Given the description of an element on the screen output the (x, y) to click on. 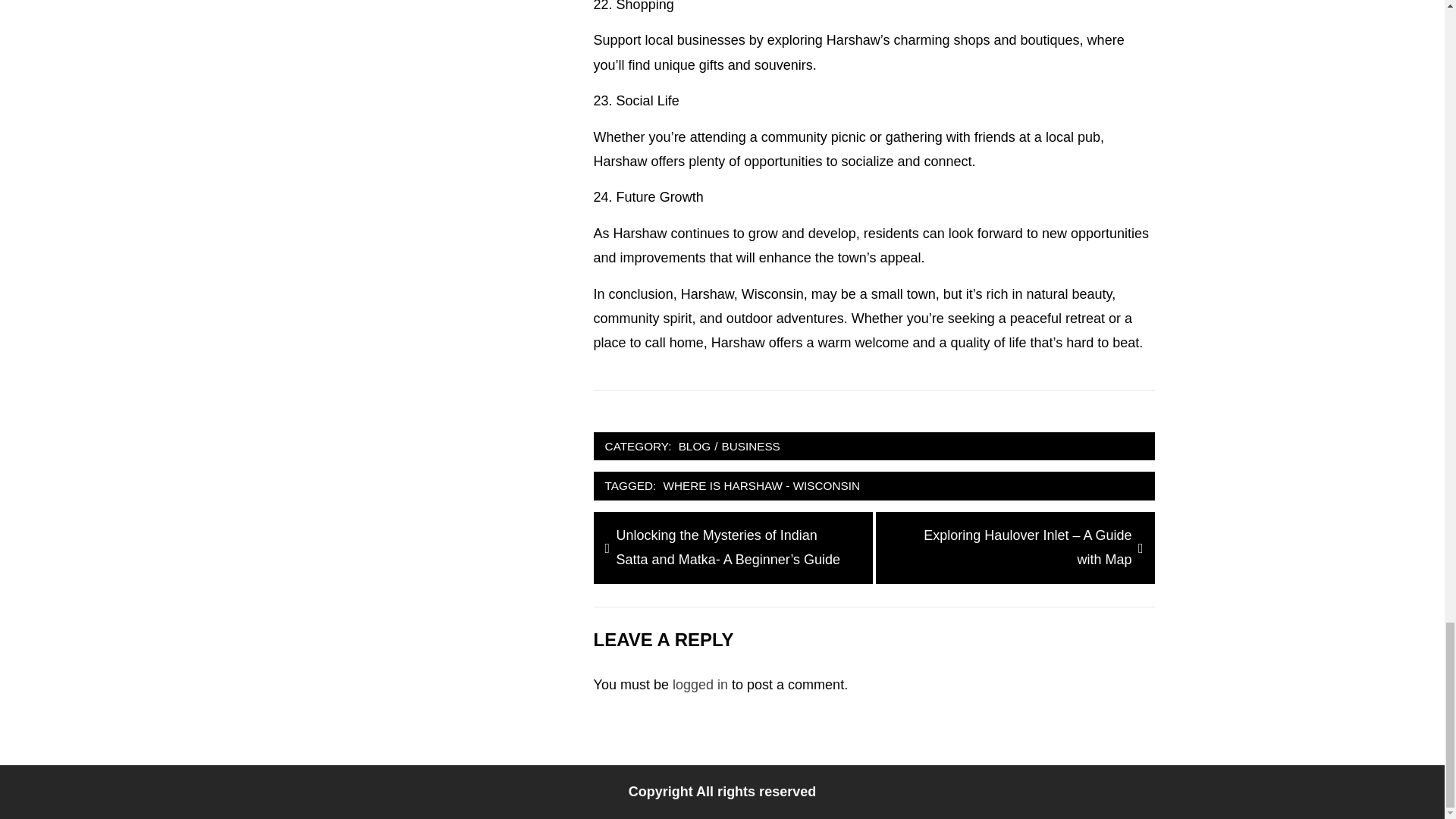
logged in (700, 684)
BUSINESS (750, 446)
WHERE IS HARSHAW - WISCONSIN (761, 485)
BLOG (694, 446)
